Given the description of an element on the screen output the (x, y) to click on. 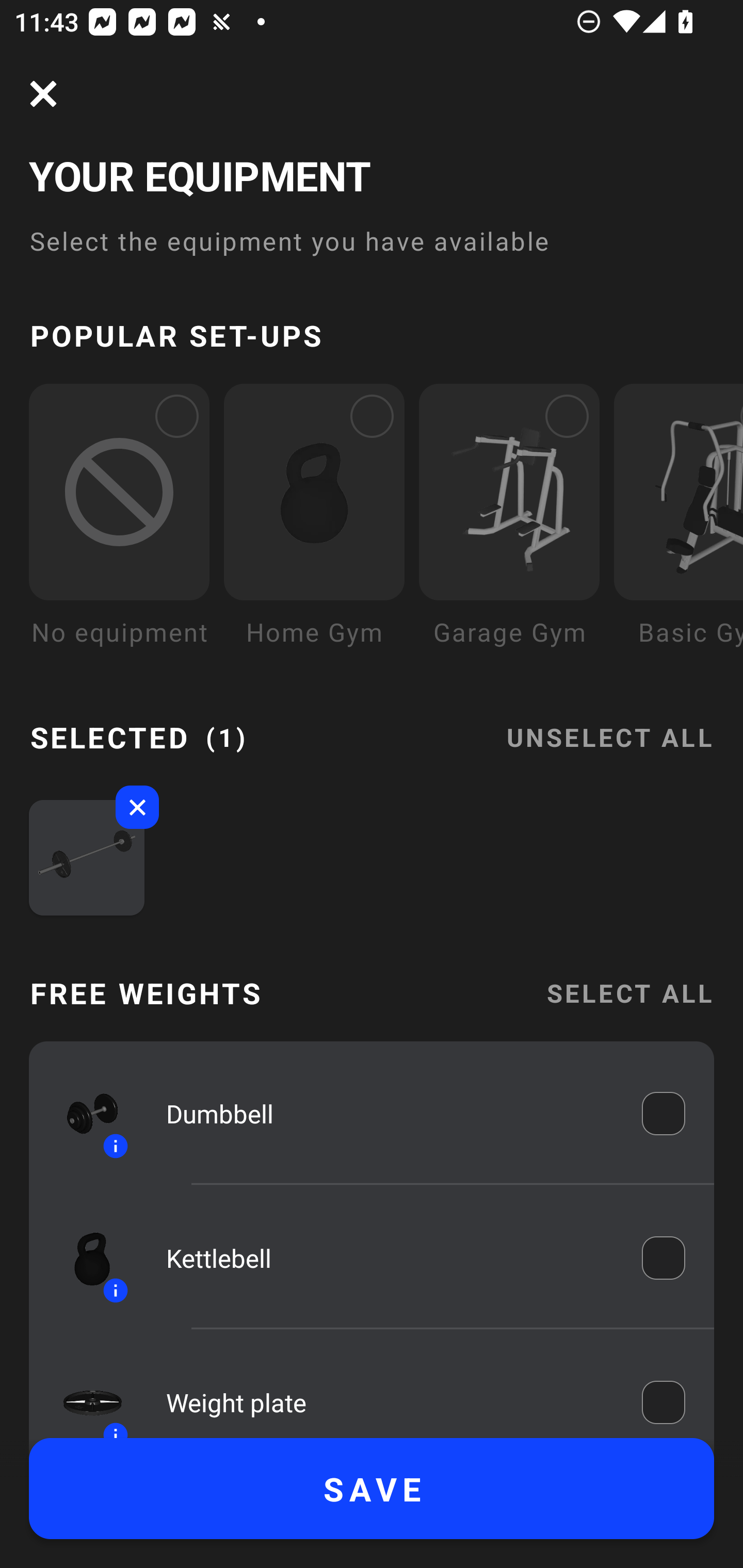
Navigation icon (43, 93)
UNSELECT ALL (609, 725)
SELECT ALL (629, 993)
Equipment icon Information icon (82, 1113)
Dumbbell (389, 1113)
Equipment icon Information icon (82, 1258)
Kettlebell (389, 1258)
Equipment icon Information icon (82, 1392)
Weight plate (389, 1398)
SAVE (371, 1488)
